Given the description of an element on the screen output the (x, y) to click on. 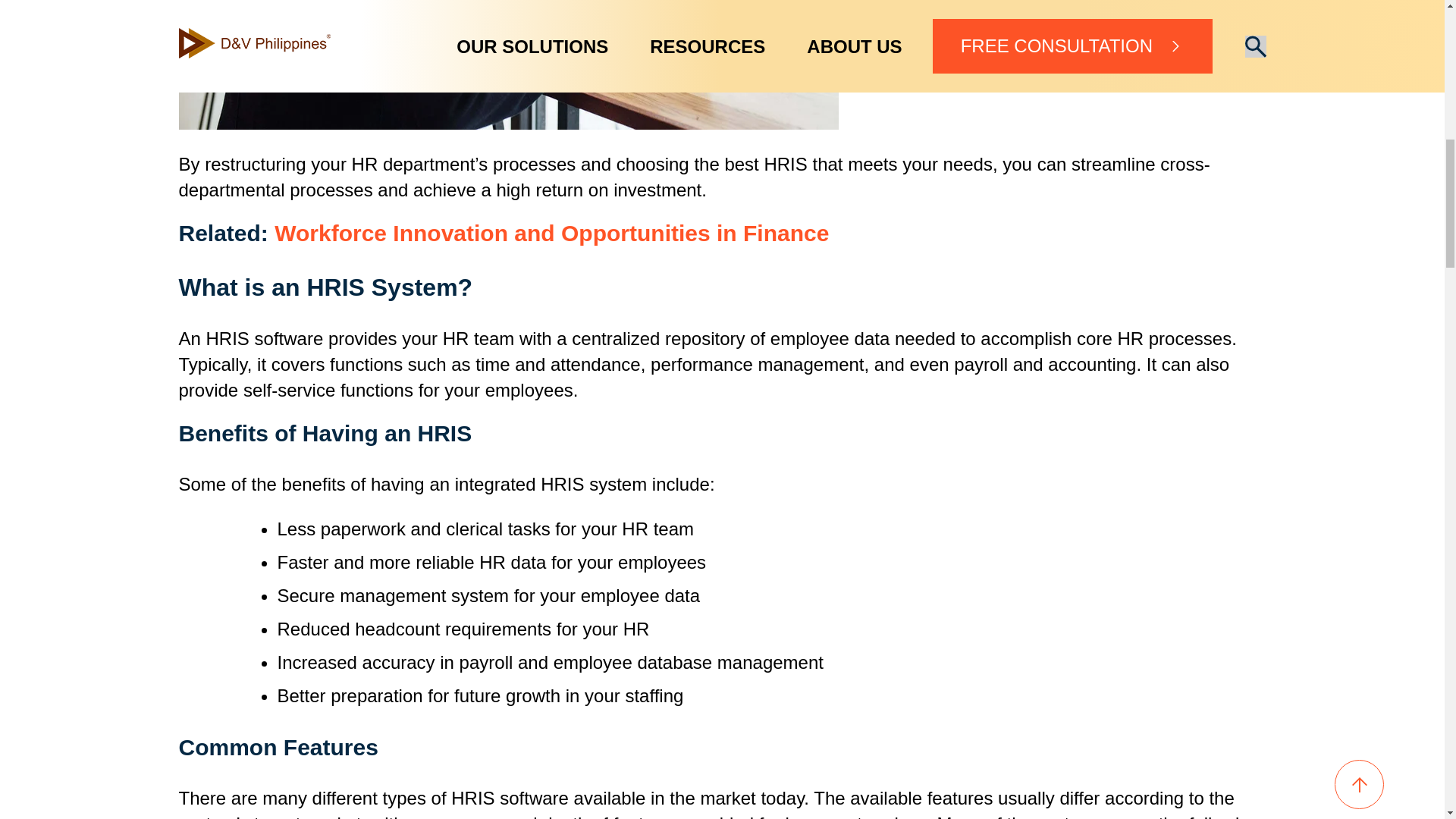
Workforce Innovation and Opportunities in Finance (551, 232)
